Given the description of an element on the screen output the (x, y) to click on. 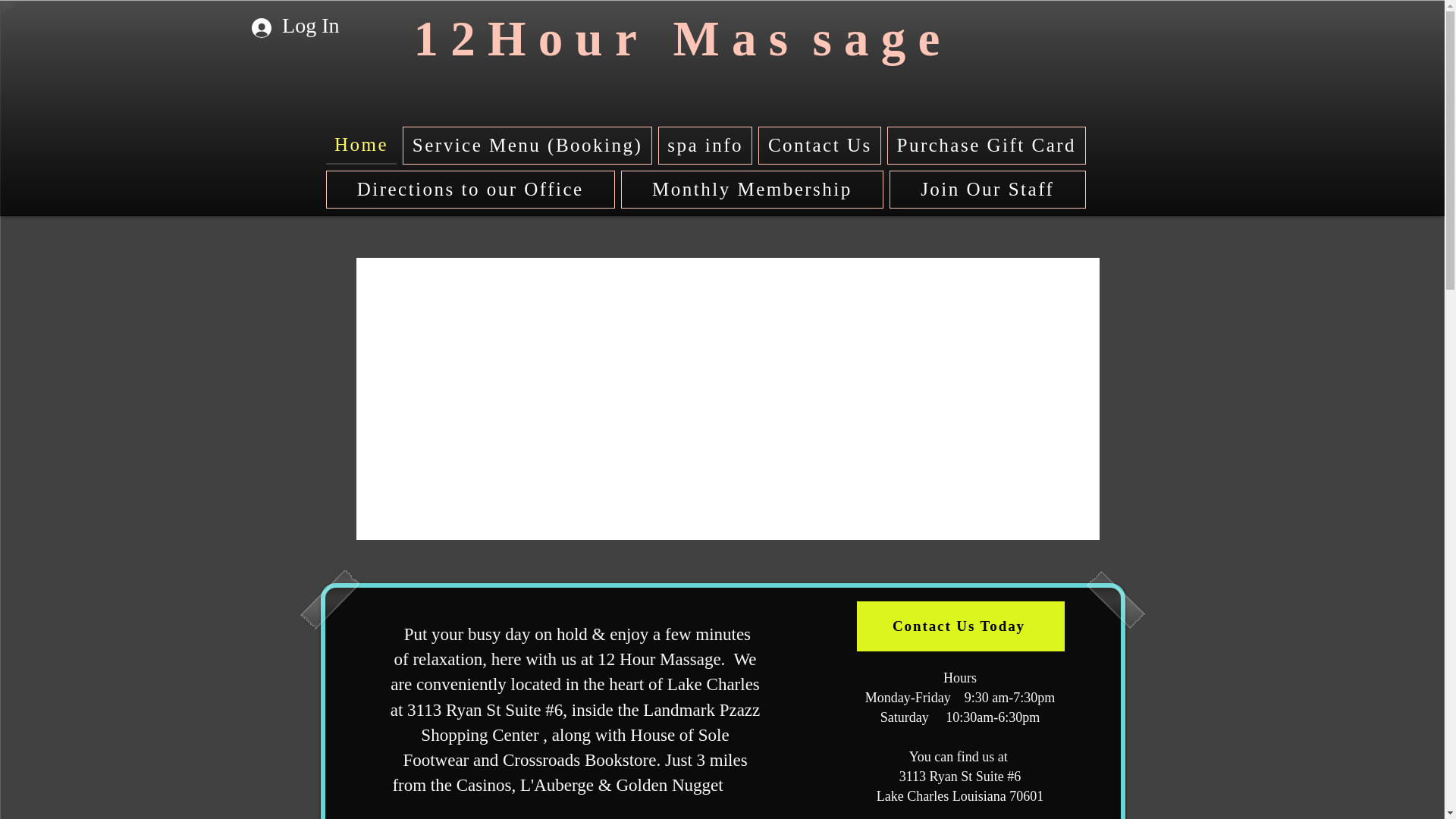
Contact Us Today Element type: text (960, 626)
Purchase Gift Card Element type: text (986, 145)
Log In Element type: text (295, 25)
Monthly Membership Element type: text (752, 189)
L'Auberge Element type: text (556, 784)
Contact Us Element type: text (819, 145)
spa info Element type: text (705, 145)
Directions to our Office Element type: text (470, 189)
Join Our Staff Element type: text (987, 189)
Service Menu (Booking) Element type: text (526, 145)
Home Element type: text (361, 145)
3113 Ryan St Suite #6 Element type: text (484, 709)
Golden Nugget Element type: text (668, 784)
